Given the description of an element on the screen output the (x, y) to click on. 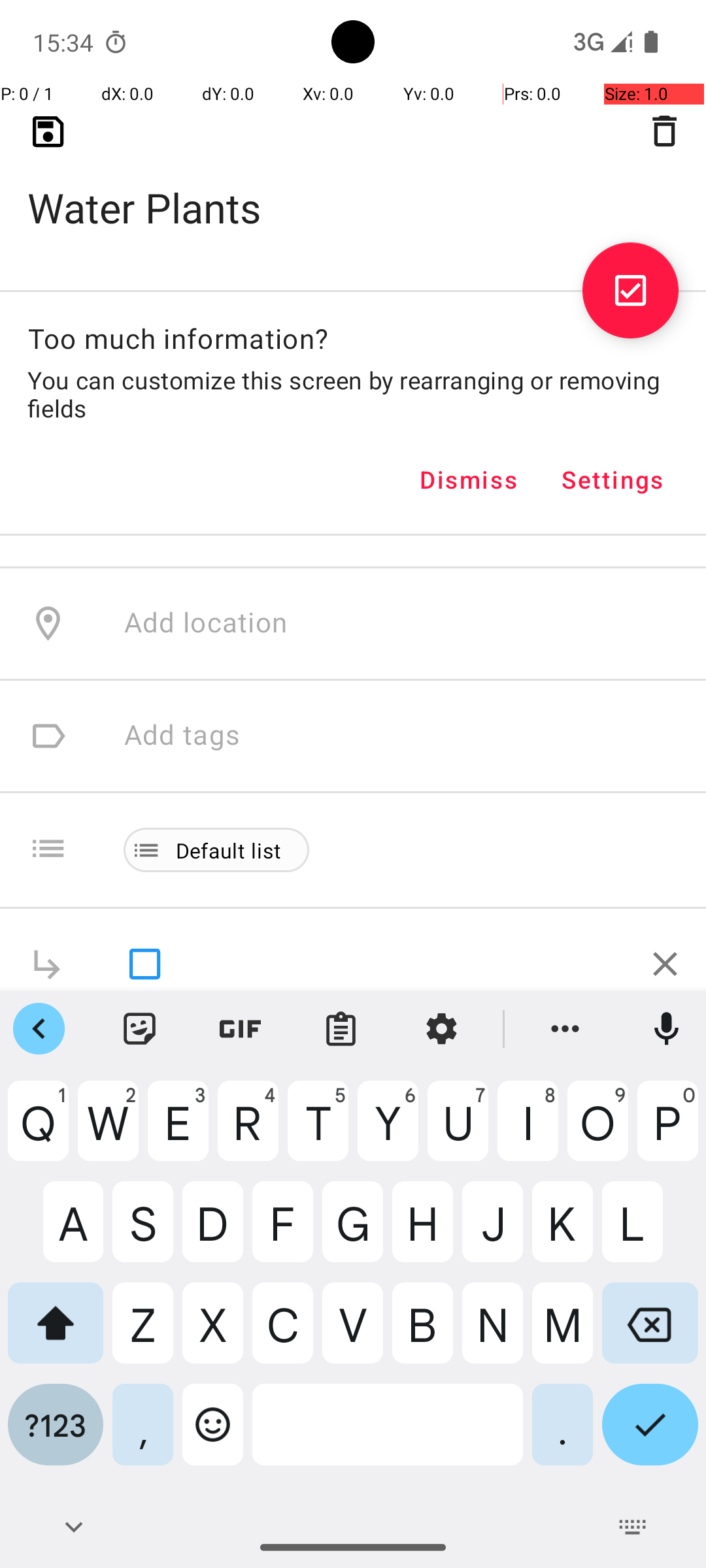
Week before due 23:33 Element type: android.widget.TextView (272, 173)
